Given the description of an element on the screen output the (x, y) to click on. 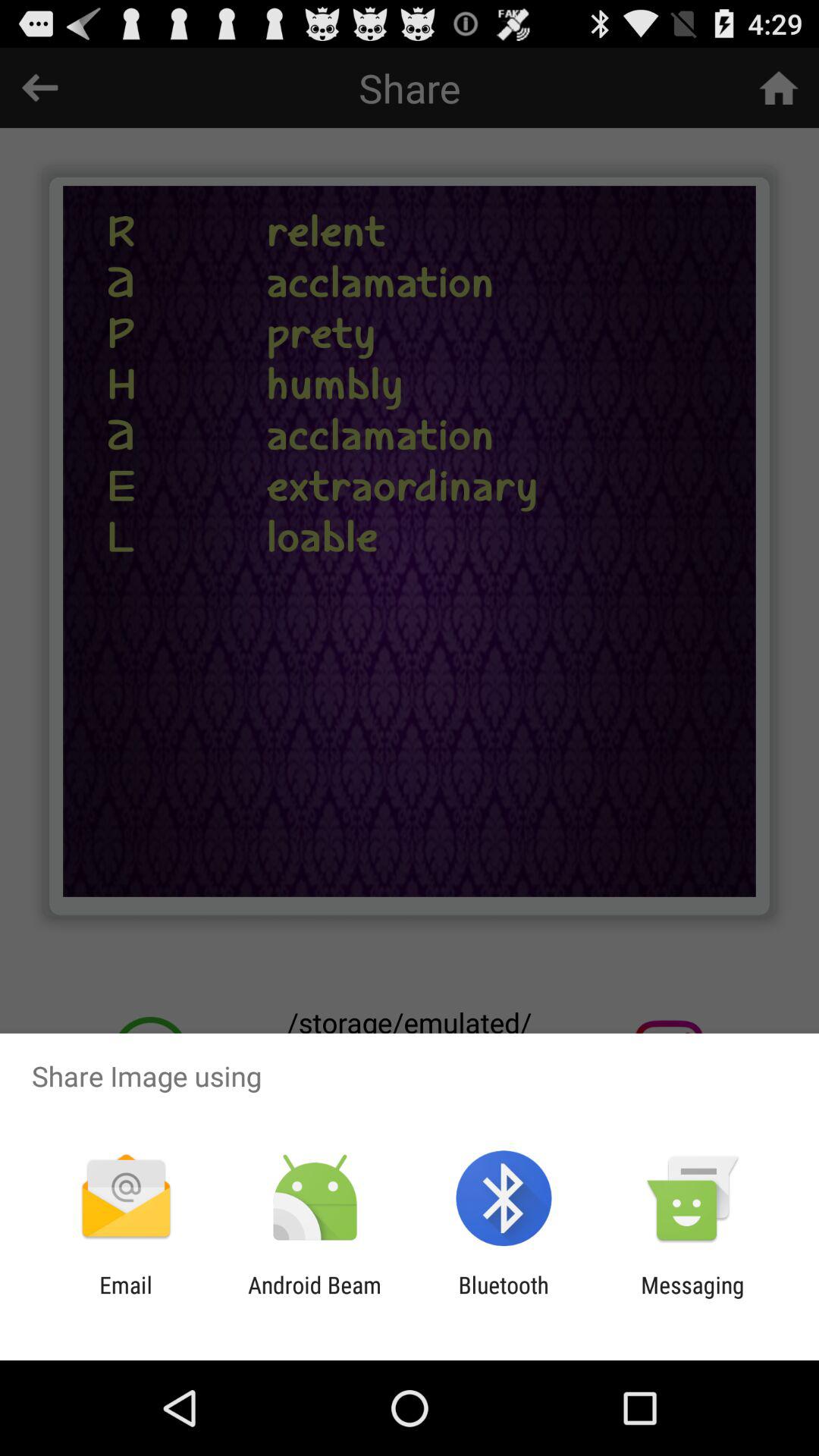
jump until the bluetooth item (503, 1298)
